Given the description of an element on the screen output the (x, y) to click on. 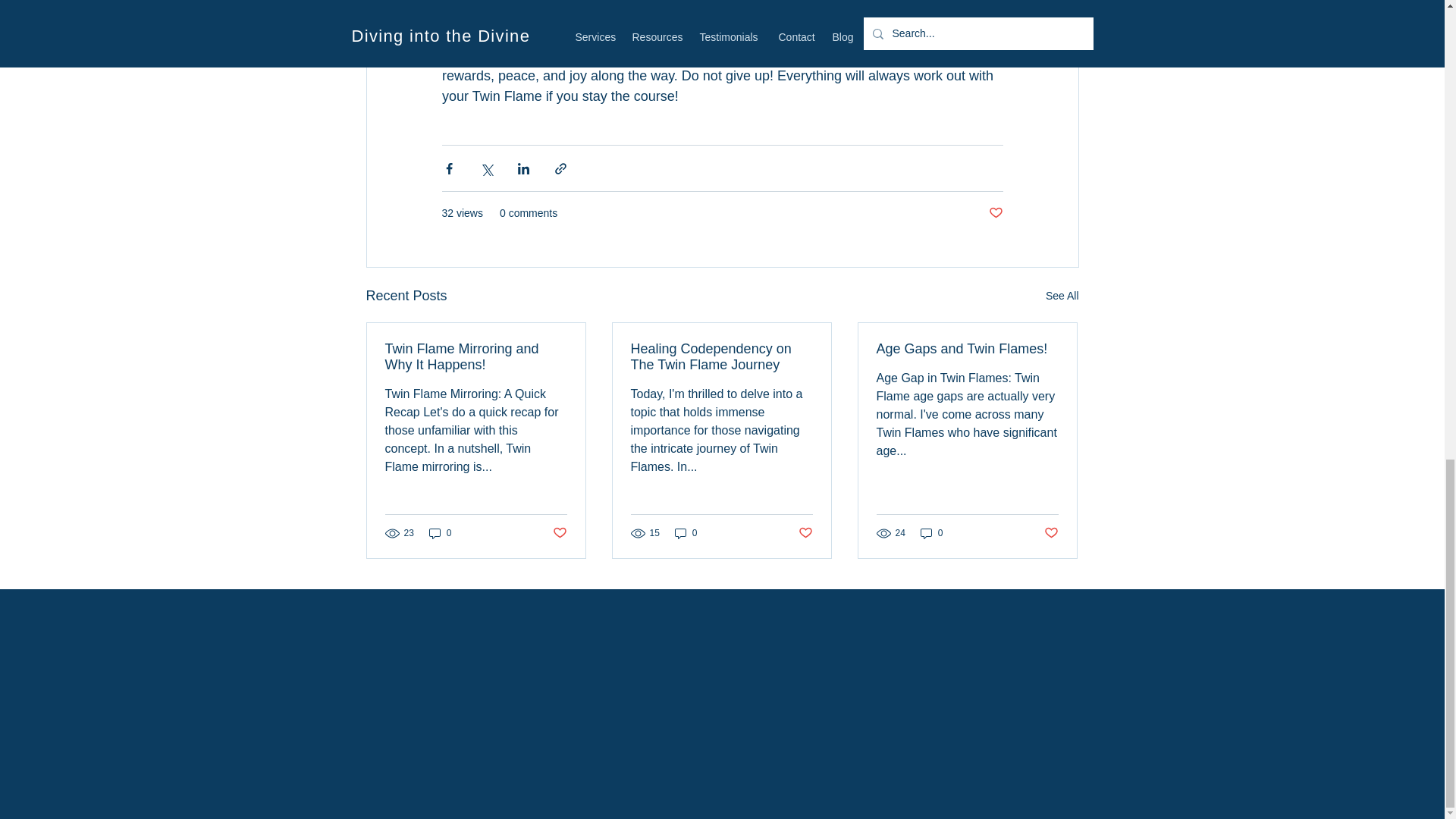
Healing Codependency on The Twin Flame Journey (721, 357)
Post not marked as liked (804, 532)
Twin Flame Mirroring and Why It Happens! (476, 357)
Post not marked as liked (558, 532)
Post not marked as liked (1050, 532)
Post not marked as liked (995, 213)
0 (685, 533)
0 (440, 533)
0 (931, 533)
Age Gaps and Twin Flames! (967, 349)
